Given the description of an element on the screen output the (x, y) to click on. 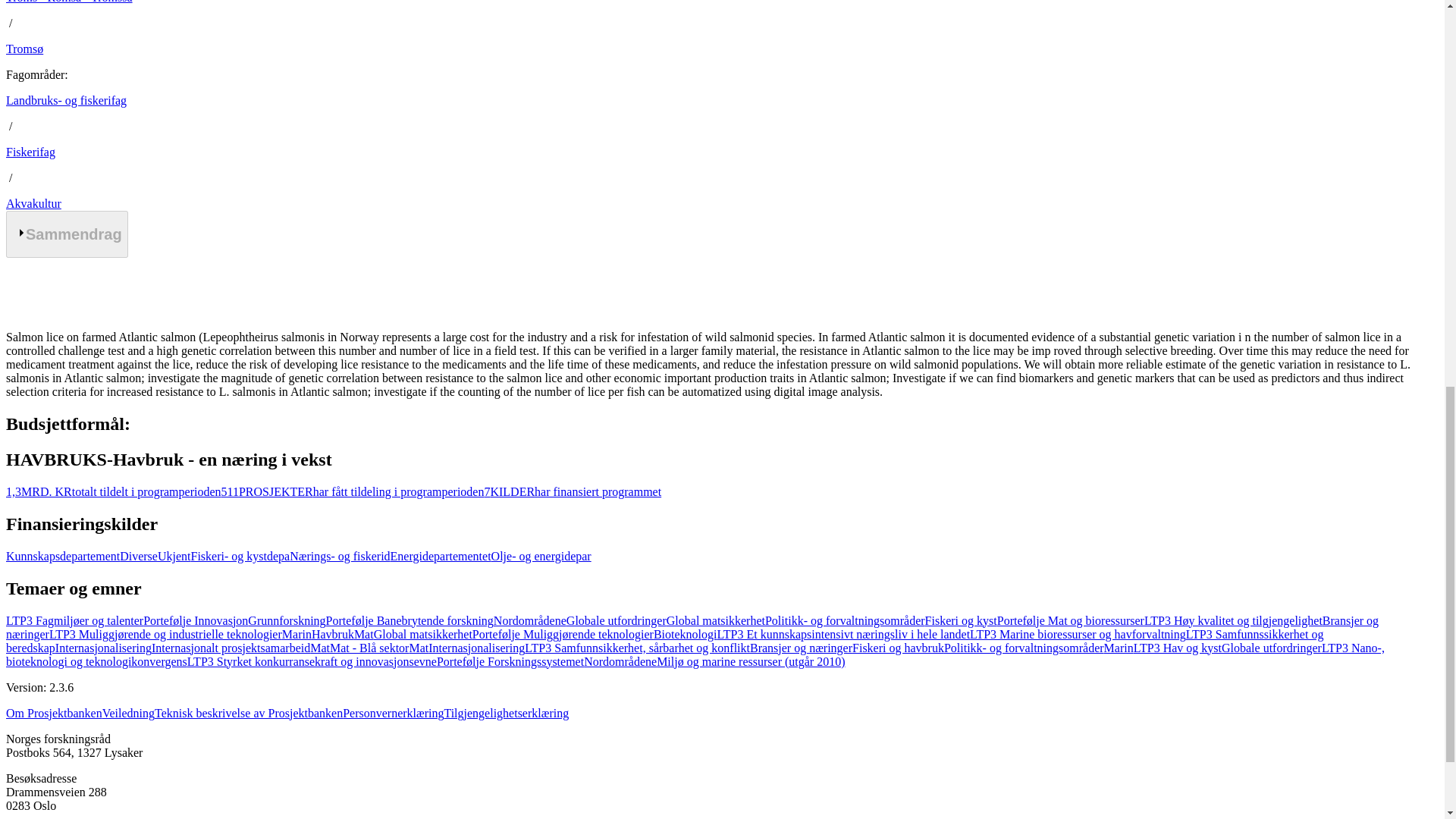
Kunnskapsdepartement (62, 555)
Akvakultur (33, 203)
Landbruks- og fiskerifag (65, 100)
Grunnforskning (285, 620)
Fiskeri- og kystdepa (239, 555)
Globale utfordringer (616, 620)
Diverse (138, 555)
1,3MRD. KRtotalt tildelt i programperioden (113, 491)
Sammendrag (66, 233)
Ukjent (173, 555)
